Given the description of an element on the screen output the (x, y) to click on. 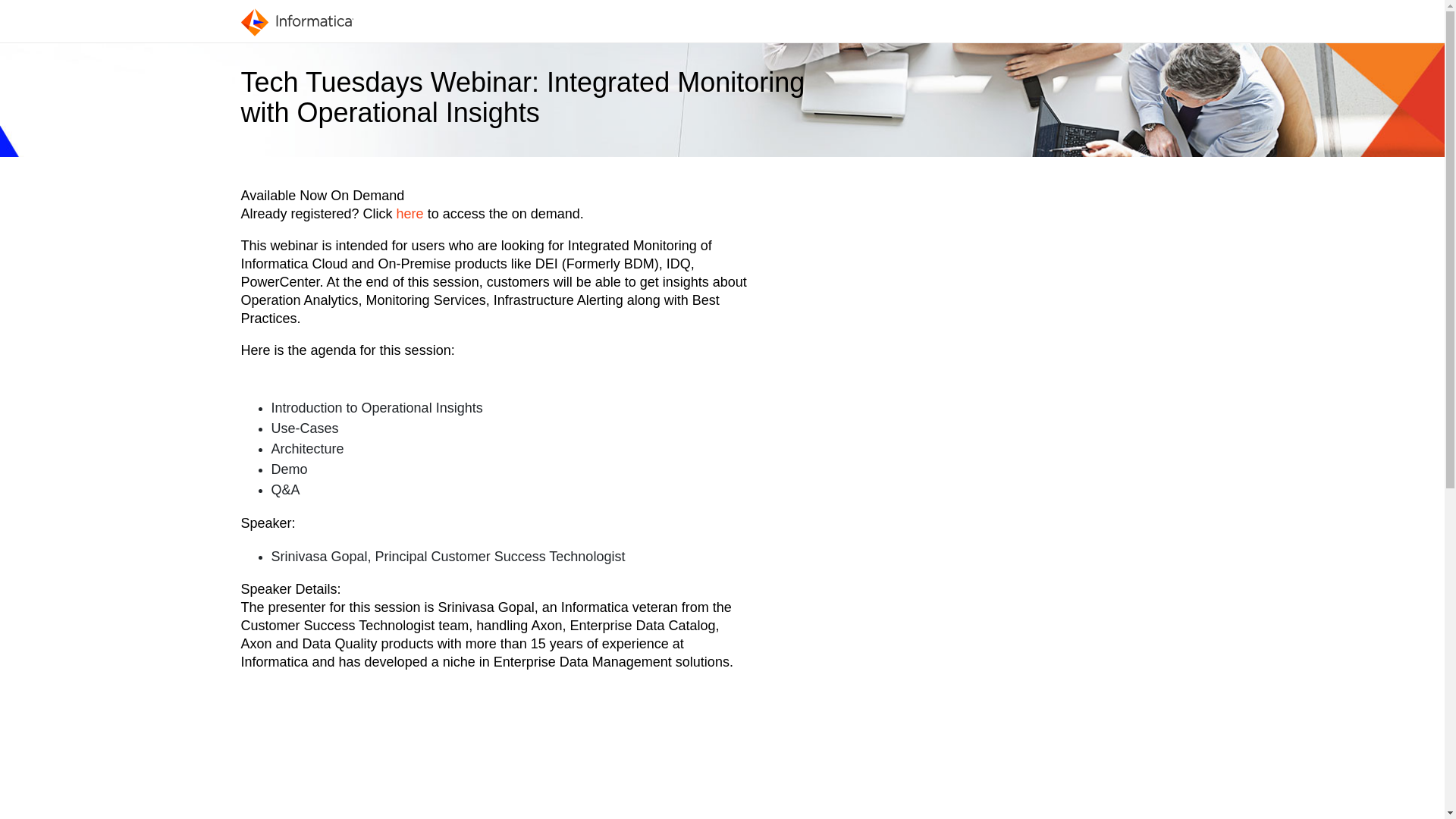
here (409, 213)
